Given the description of an element on the screen output the (x, y) to click on. 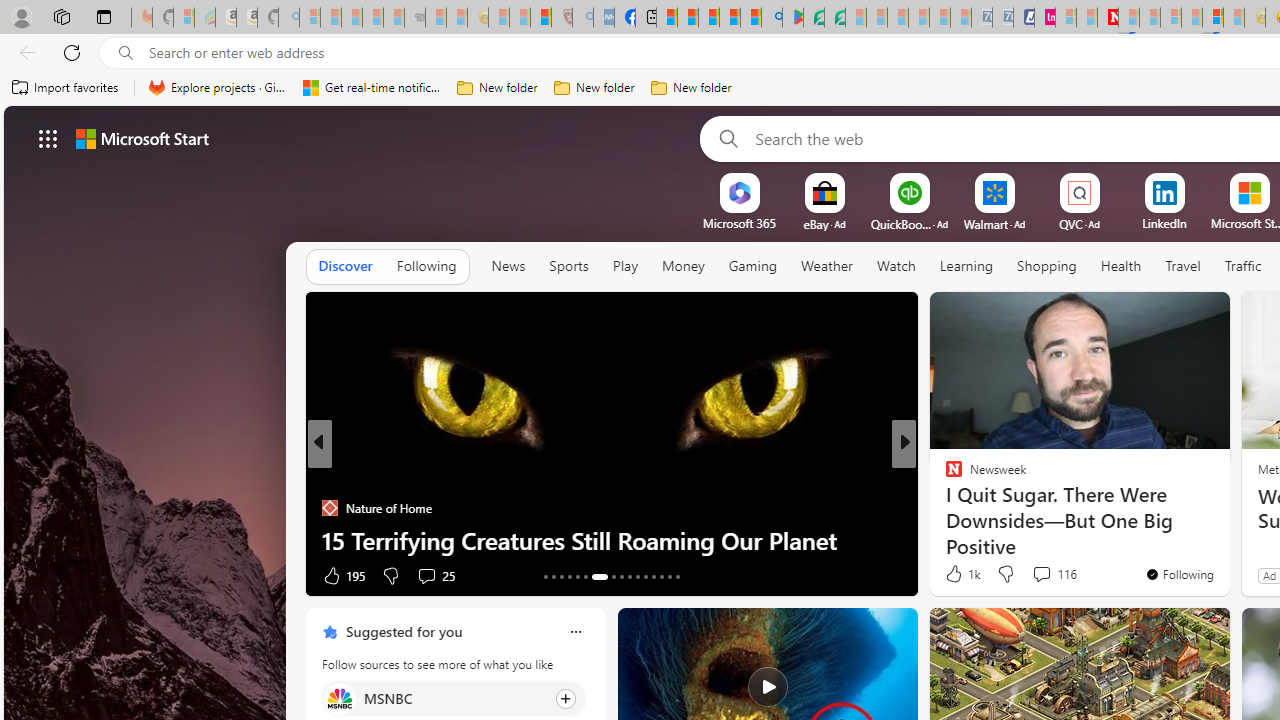
Nature of Home (329, 507)
To get missing image descriptions, open the context menu. (739, 192)
Nordace (959, 507)
